Given the description of an element on the screen output the (x, y) to click on. 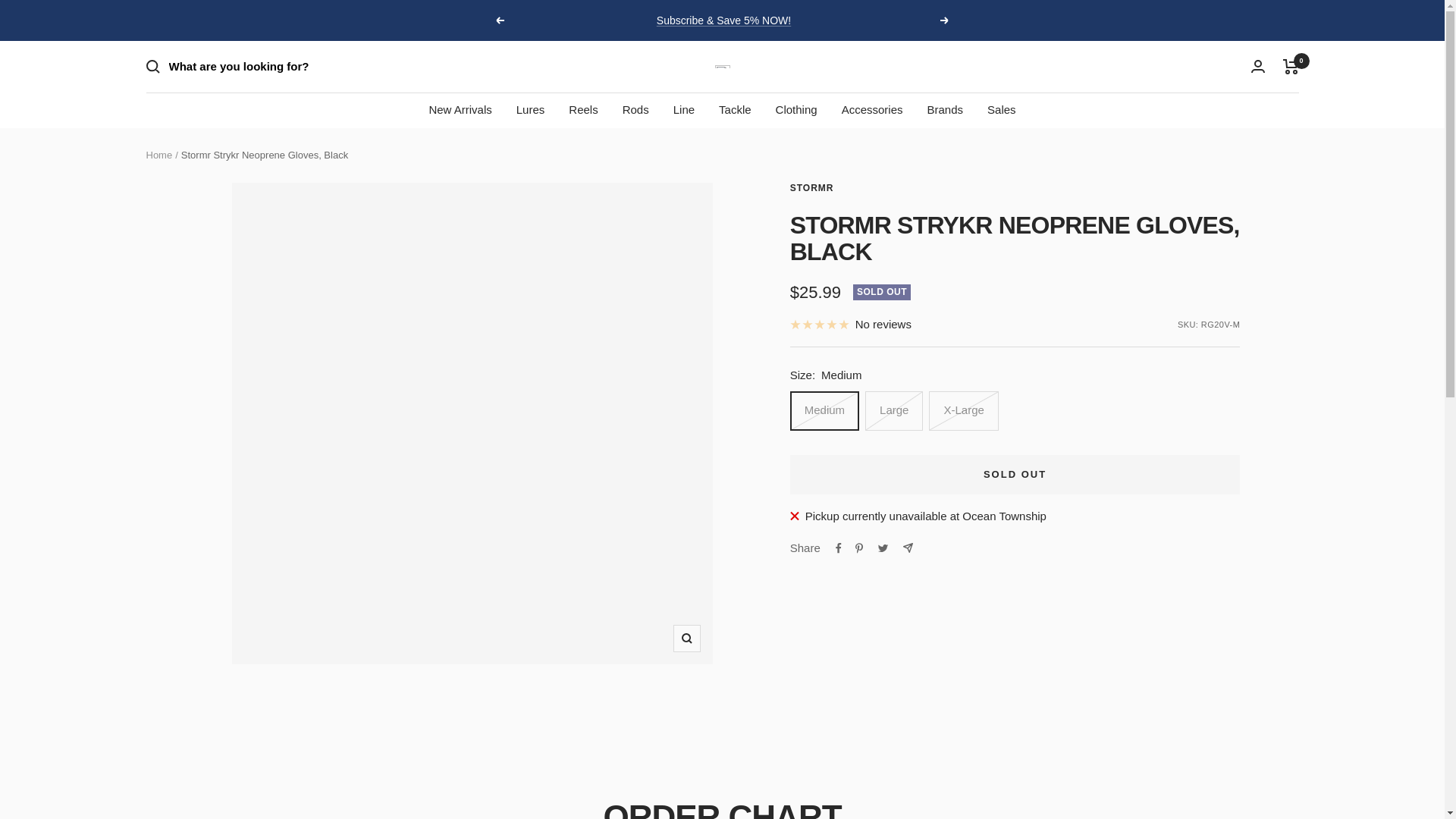
SOLD OUT (1015, 474)
Tackle (735, 109)
Line (683, 109)
Fishermen's Source (721, 66)
No reviews (850, 324)
New Arrivals (460, 109)
STORMR (812, 187)
Brands (944, 109)
Reels (582, 109)
Zoom (686, 637)
Clothing (796, 109)
Sales (1001, 109)
Lures (530, 109)
